Given the description of an element on the screen output the (x, y) to click on. 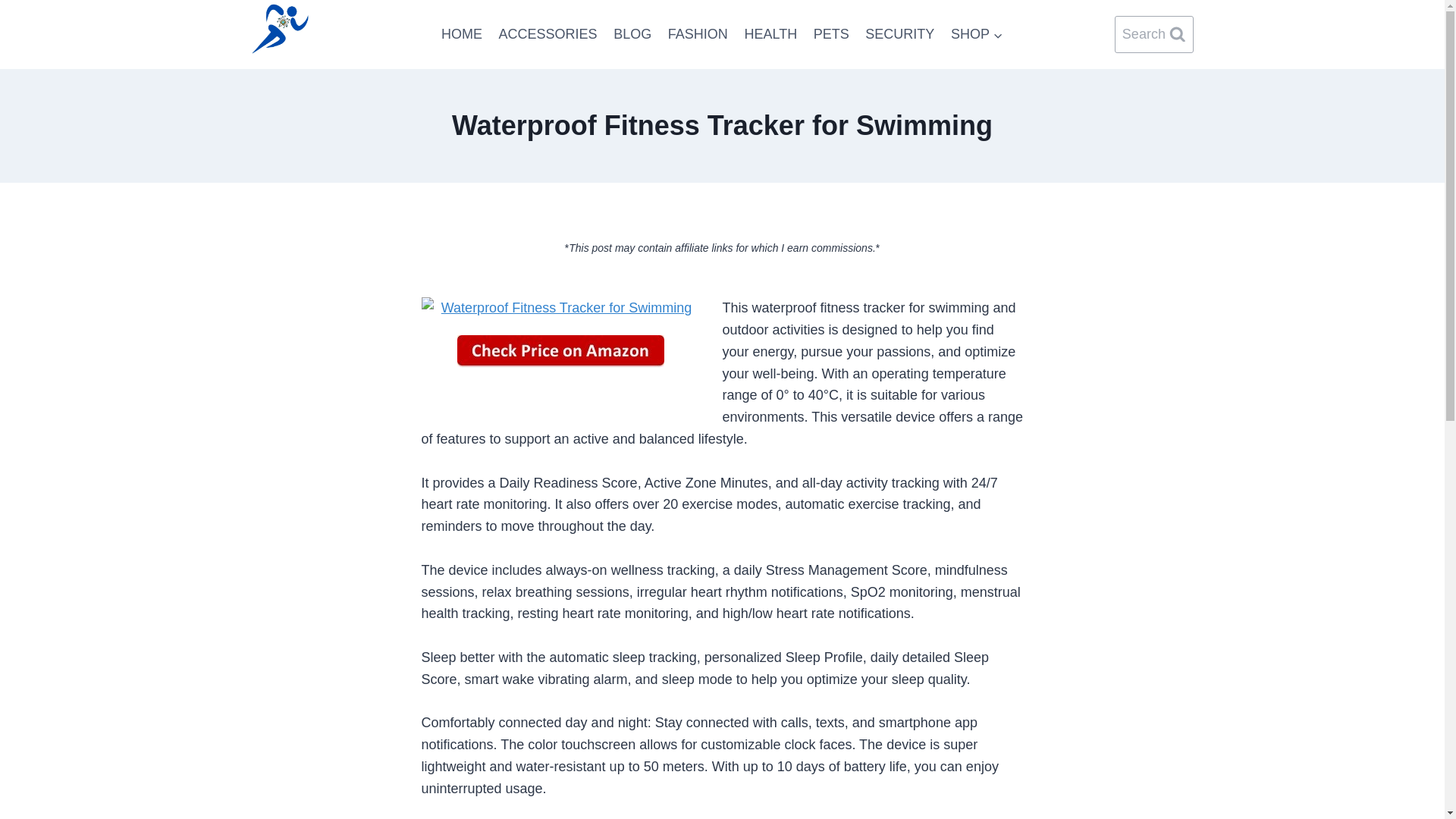
FASHION (697, 34)
PETS (831, 34)
ACCESSORIES (547, 34)
BLOG (632, 34)
HOME (461, 34)
SHOP (976, 34)
SECURITY (900, 34)
Search (1154, 34)
HEALTH (770, 34)
